Given the description of an element on the screen output the (x, y) to click on. 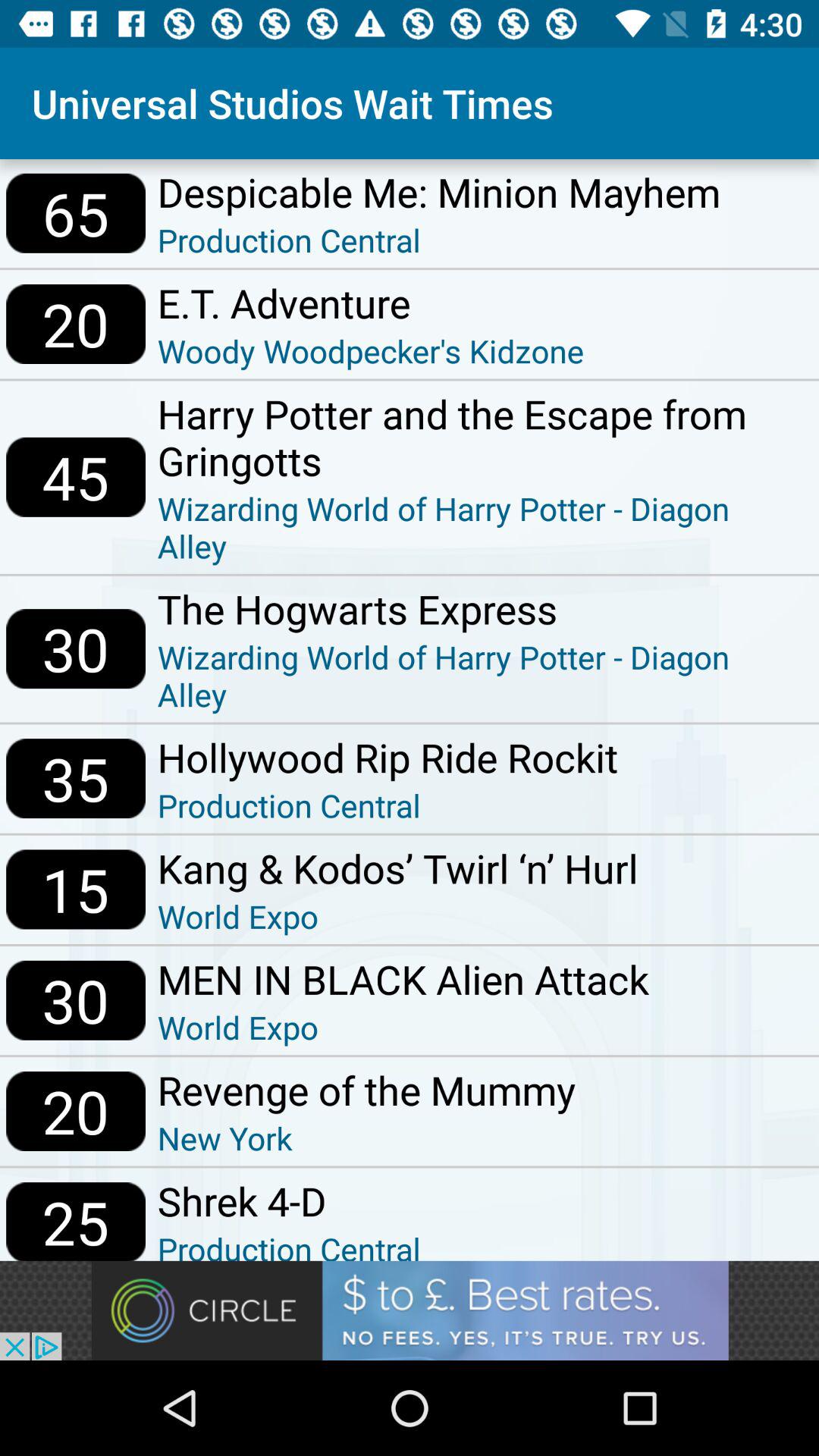
select the icon below 20 item (75, 1221)
